Given the description of an element on the screen output the (x, y) to click on. 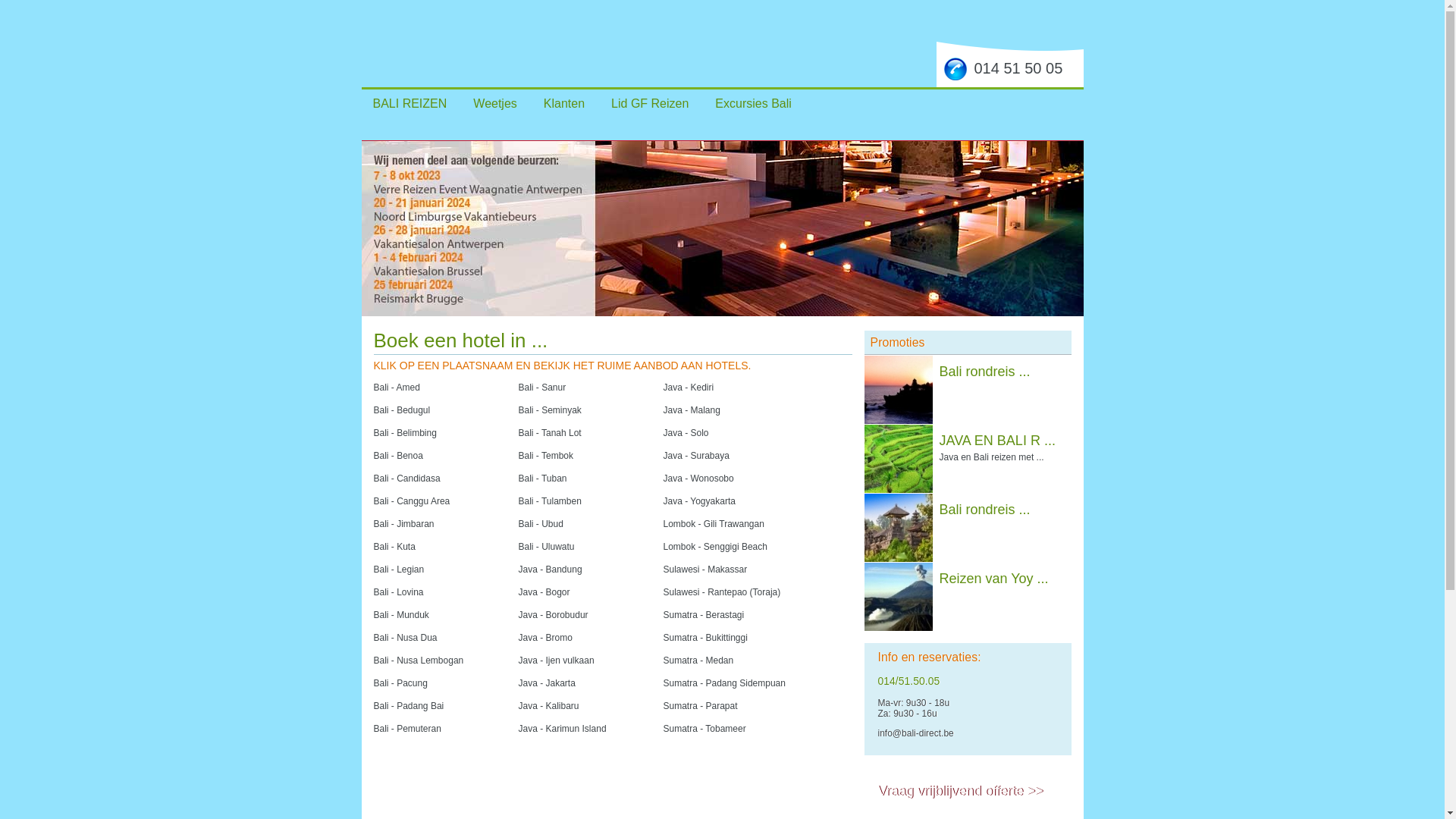
Bali - Lovina Element type: text (398, 591)
Bali - Tuban Element type: text (542, 477)
Java - Bromo Element type: text (545, 637)
Java - Borobudur Element type: text (553, 614)
Bali - Legian Element type: text (398, 568)
Bali - Kuta Element type: text (393, 546)
Bali - Canggu Area Element type: text (411, 500)
Java - Kediri Element type: text (687, 386)
Java - Solo Element type: text (685, 432)
Lombok - Senggigi Beach Element type: text (714, 546)
Bali - Padang Bai Element type: text (408, 705)
Sumatra - Padang Sidempuan Element type: text (723, 682)
Java - Bandung Element type: text (550, 568)
Java - Surabaya Element type: text (695, 455)
Bali - Belimbing Element type: text (404, 432)
Java - Jakarta Element type: text (546, 682)
Java - Yogyakarta Element type: text (698, 500)
Sumatra - Berastagi Element type: text (702, 614)
Java - Karimun Island Element type: text (562, 728)
Bali - Candidasa Element type: text (406, 477)
Bali - Tanah Lot Element type: text (549, 432)
Java - Wonosobo Element type: text (697, 477)
Weetjes Element type: text (494, 103)
Vraag vrijblijvend offerte >> Element type: text (960, 790)
Sumatra - Parapat Element type: text (699, 705)
Bali rondreis ... Element type: text (983, 509)
Sulawesi - Makassar Element type: text (704, 568)
Java - Malang Element type: text (690, 409)
Bali rondreis ... Element type: text (983, 371)
Bali - Uluwatu Element type: text (546, 546)
Bali - Pemuteran Element type: text (406, 728)
Excursies Bali Element type: text (752, 103)
info@bali-direct.be Element type: text (915, 733)
Sumatra - Medan Element type: text (697, 659)
Bali - Nusa Lembogan Element type: text (418, 659)
Java - Ijen vulkaan Element type: text (556, 659)
Java - Kalibaru Element type: text (548, 705)
Bali - Tulamben Element type: text (549, 500)
BALI REIZEN Element type: text (409, 103)
Lombok - Gili Trawangan Element type: text (712, 523)
Sumatra - Bukittinggi Element type: text (704, 637)
Bali - Seminyak Element type: text (549, 409)
Bali - Ubud Element type: text (540, 523)
Bali - Nusa Dua Element type: text (404, 637)
JAVA EN BALI R ... Element type: text (996, 440)
Java - Bogor Element type: text (544, 591)
Bali - Amed Element type: text (396, 386)
Reizen van Yoy ... Element type: text (993, 578)
Bali - Sanur Element type: text (542, 386)
Bali - Jimbaran Element type: text (403, 523)
Bali - Benoa Element type: text (397, 455)
Bali - Tembok Element type: text (545, 455)
Lid GF Reizen Element type: text (649, 103)
Bali - Munduk Element type: text (400, 614)
Klanten Element type: text (564, 103)
Bali - Bedugul Element type: text (401, 409)
Sulawesi - Rantepao (Toraja) Element type: text (721, 591)
Sumatra - Tobameer Element type: text (703, 728)
Bali - Pacung Element type: text (399, 682)
Java en Bali reizen met ... Element type: text (990, 456)
